Given the description of an element on the screen output the (x, y) to click on. 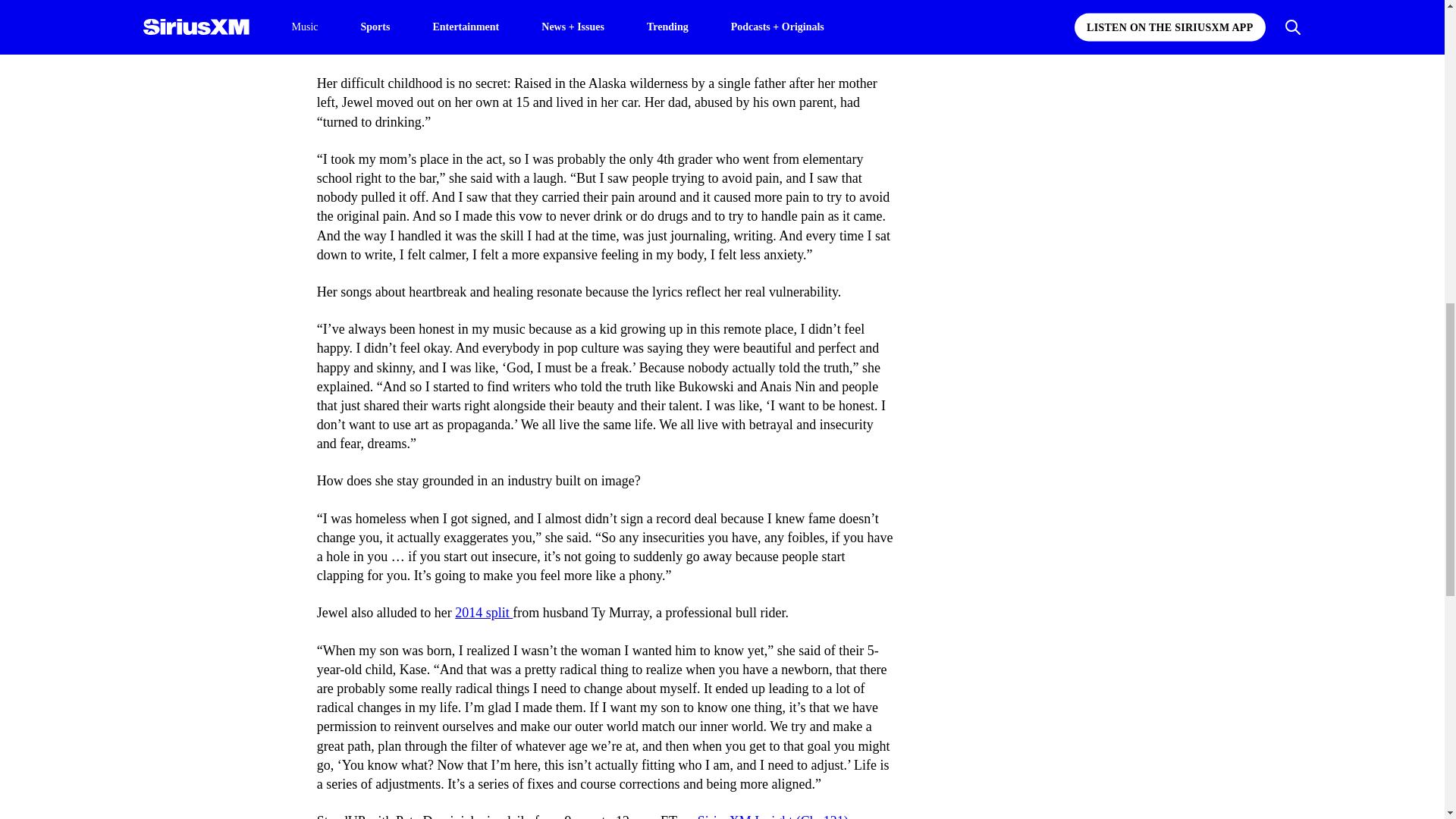
2014 split (483, 612)
Pete Dominick (435, 27)
Never Broken movement (672, 27)
